Given the description of an element on the screen output the (x, y) to click on. 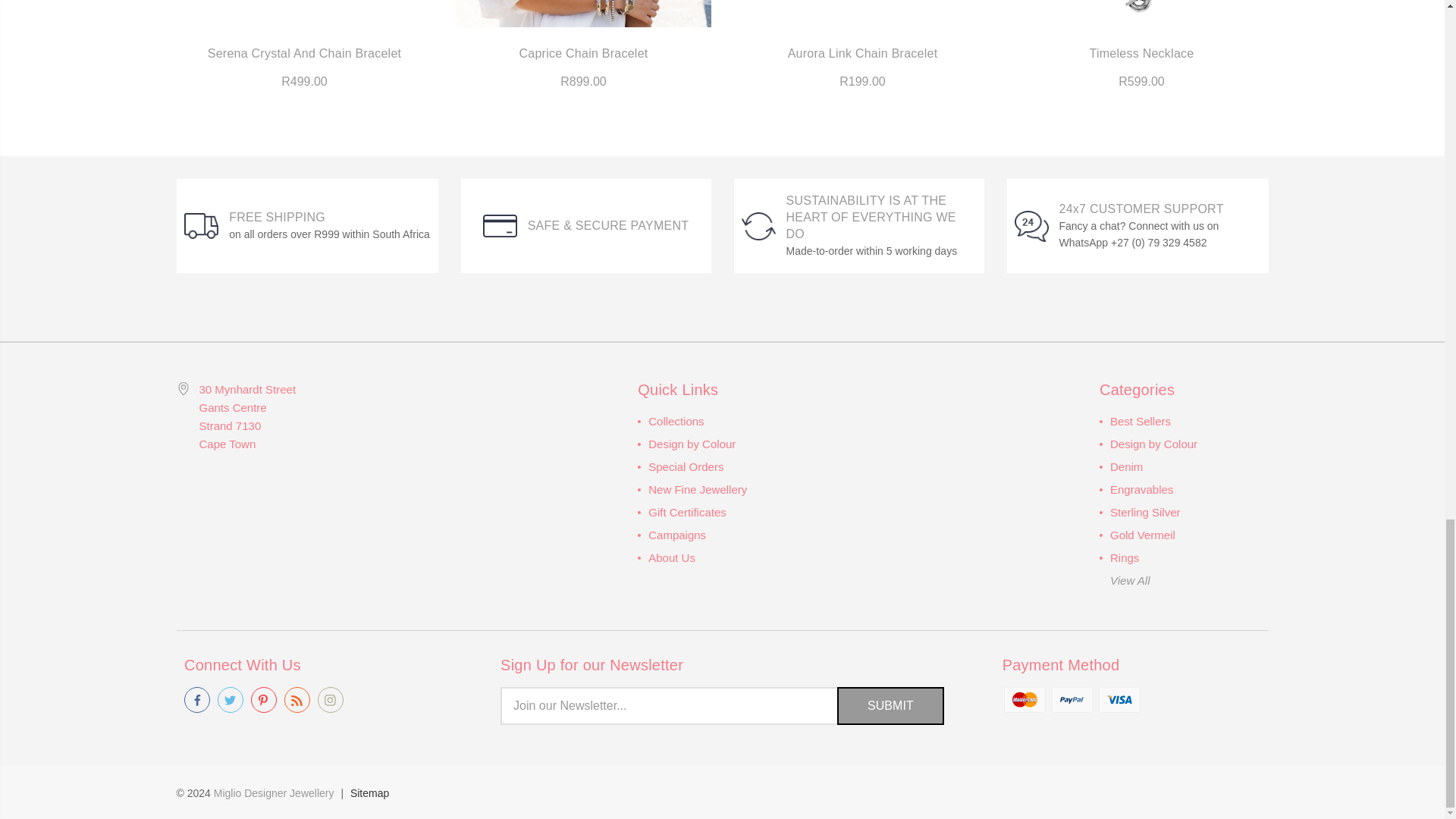
Timeless Necklace    (1141, 13)
Aurora Link Chain Bracelet (861, 13)
Serena Crystal And Chain Bracelet (304, 13)
submit (890, 705)
